Given the description of an element on the screen output the (x, y) to click on. 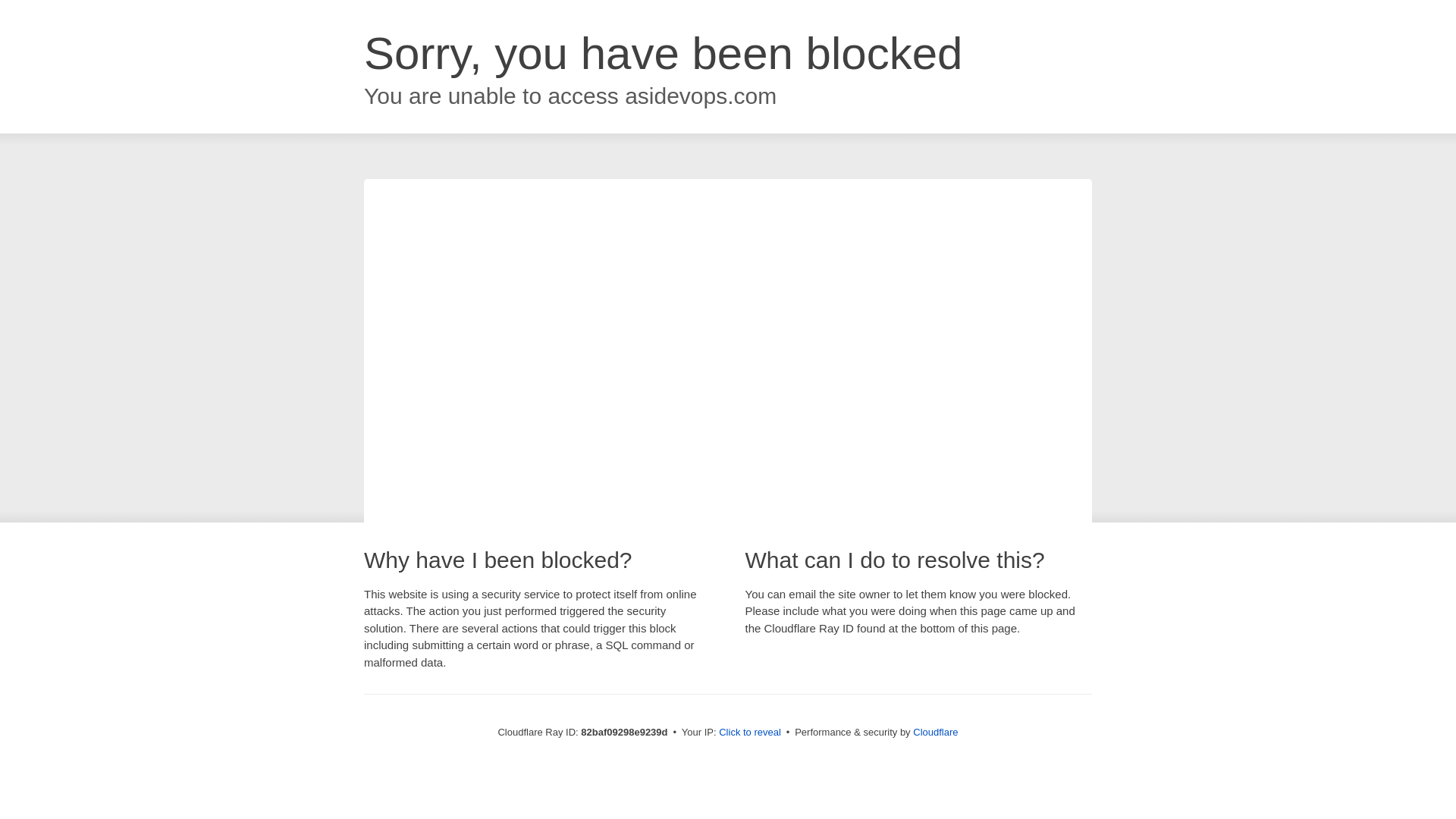
Click to reveal Element type: text (749, 732)
Cloudflare Element type: text (935, 731)
